Given the description of an element on the screen output the (x, y) to click on. 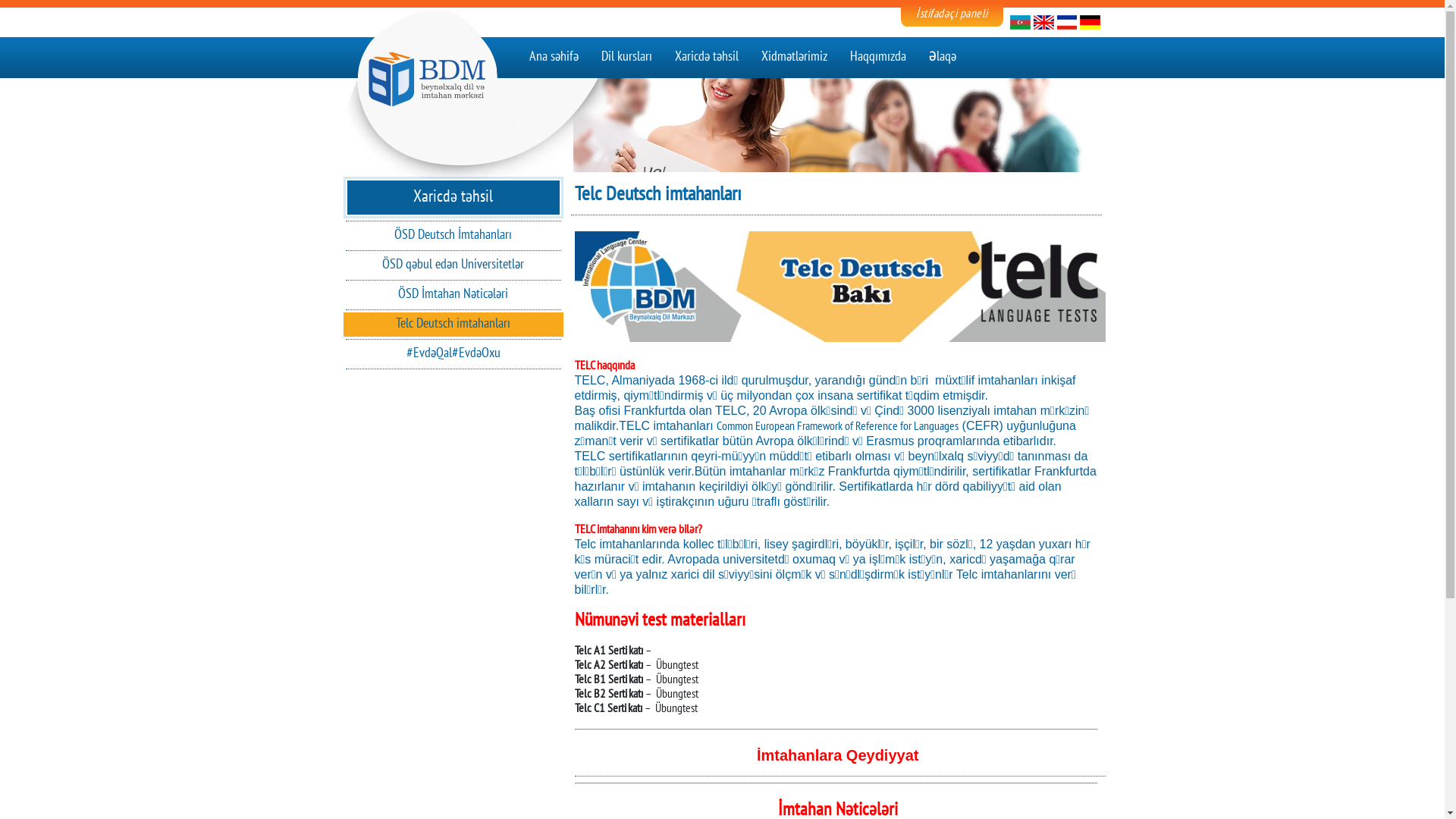
bdm international language center Element type: hover (478, 99)
#_dili Element type: hover (1042, 22)
#_dili Element type: hover (1066, 22)
#_dili Element type: hover (1020, 22)
az Element type: hover (1089, 22)
